Given the description of an element on the screen output the (x, y) to click on. 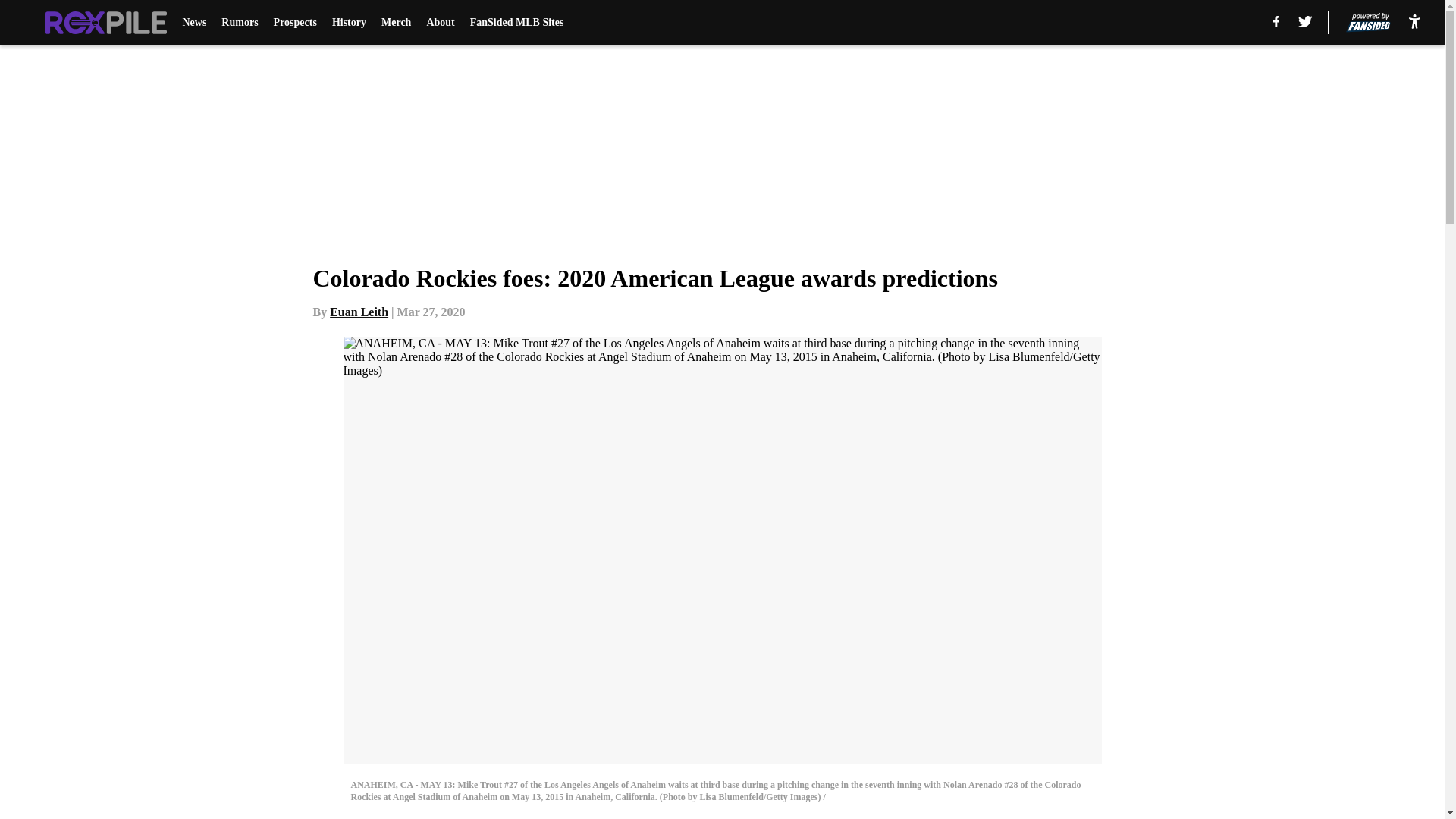
History (348, 22)
FanSided MLB Sites (517, 22)
News (194, 22)
About (440, 22)
Merch (395, 22)
Prospects (295, 22)
Rumors (239, 22)
Euan Leith (359, 311)
